Given the description of an element on the screen output the (x, y) to click on. 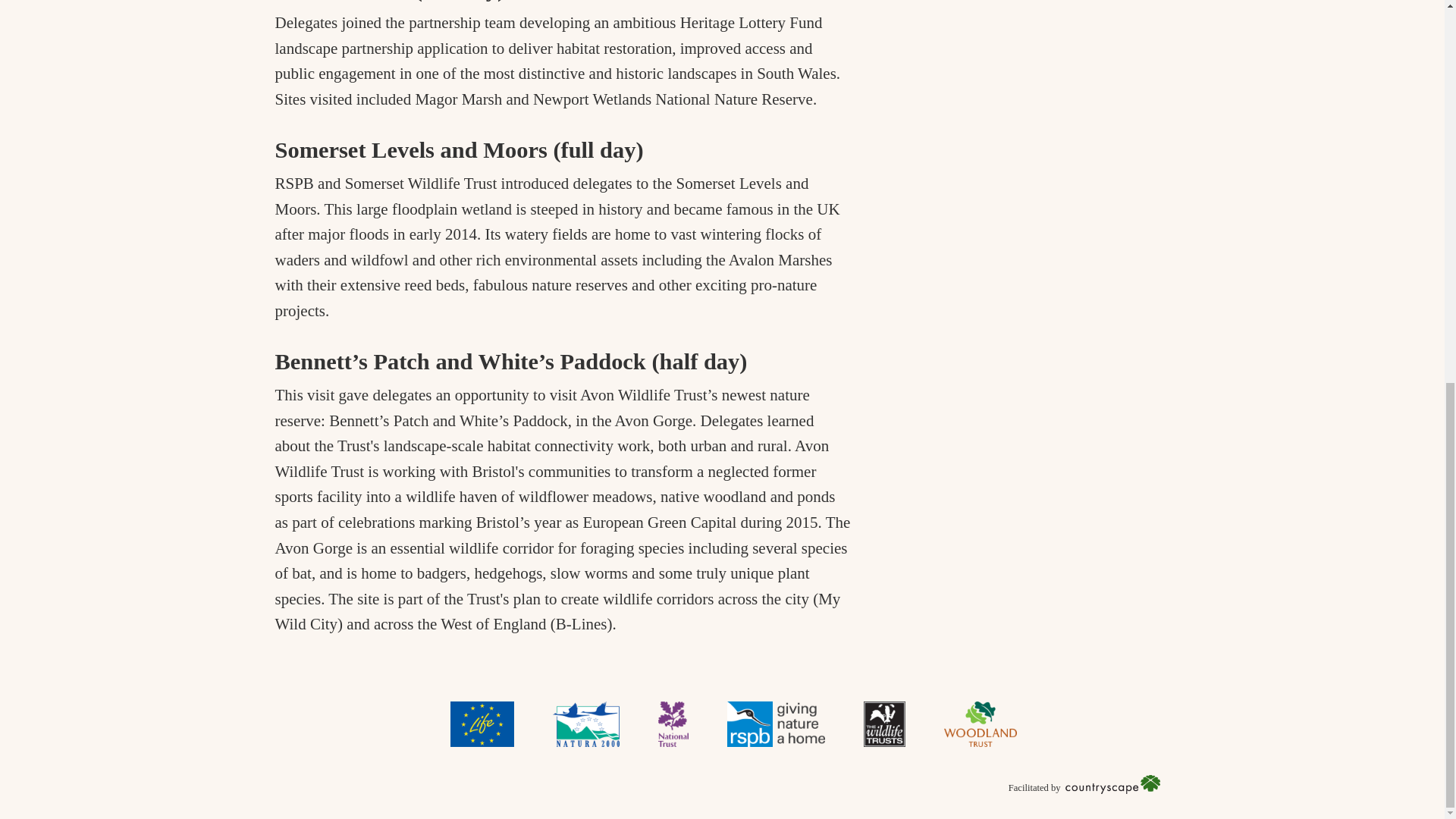
RSPB (775, 723)
Woodland Trust (979, 723)
EU Life (481, 723)
Countryscape (1112, 783)
Natura 2000 (585, 723)
The Wildlife Trusts (884, 723)
